Given the description of an element on the screen output the (x, y) to click on. 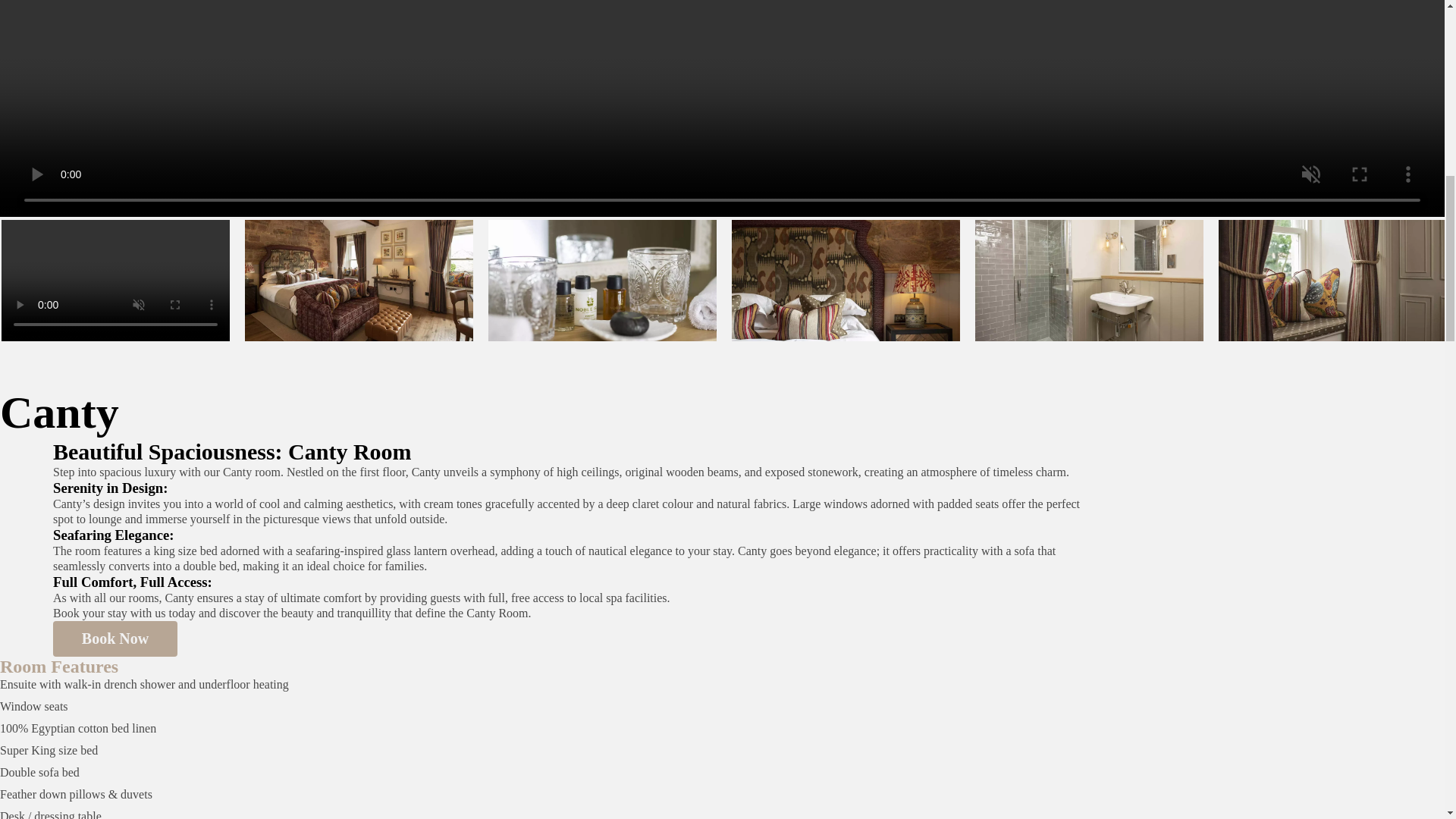
Book Now (114, 638)
